Given the description of an element on the screen output the (x, y) to click on. 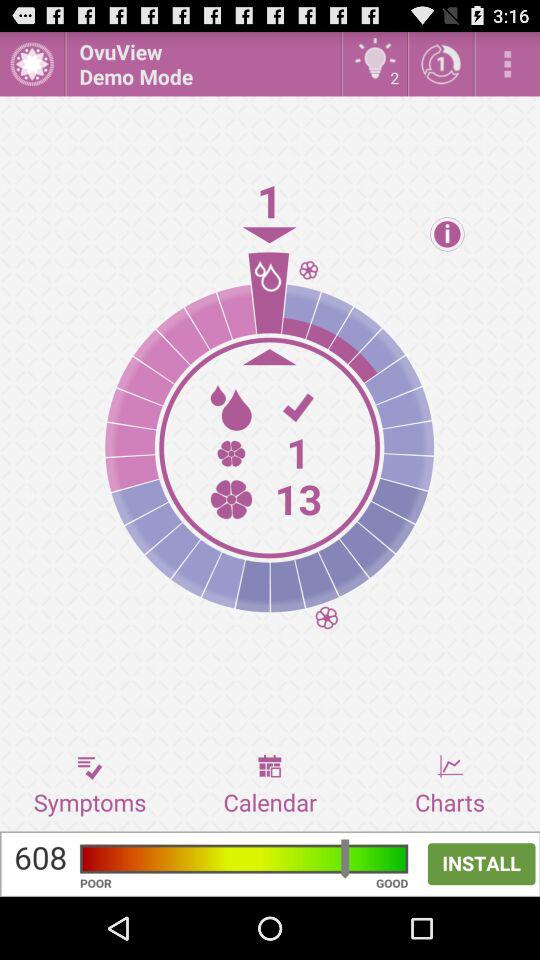
install app (270, 864)
